Given the description of an element on the screen output the (x, y) to click on. 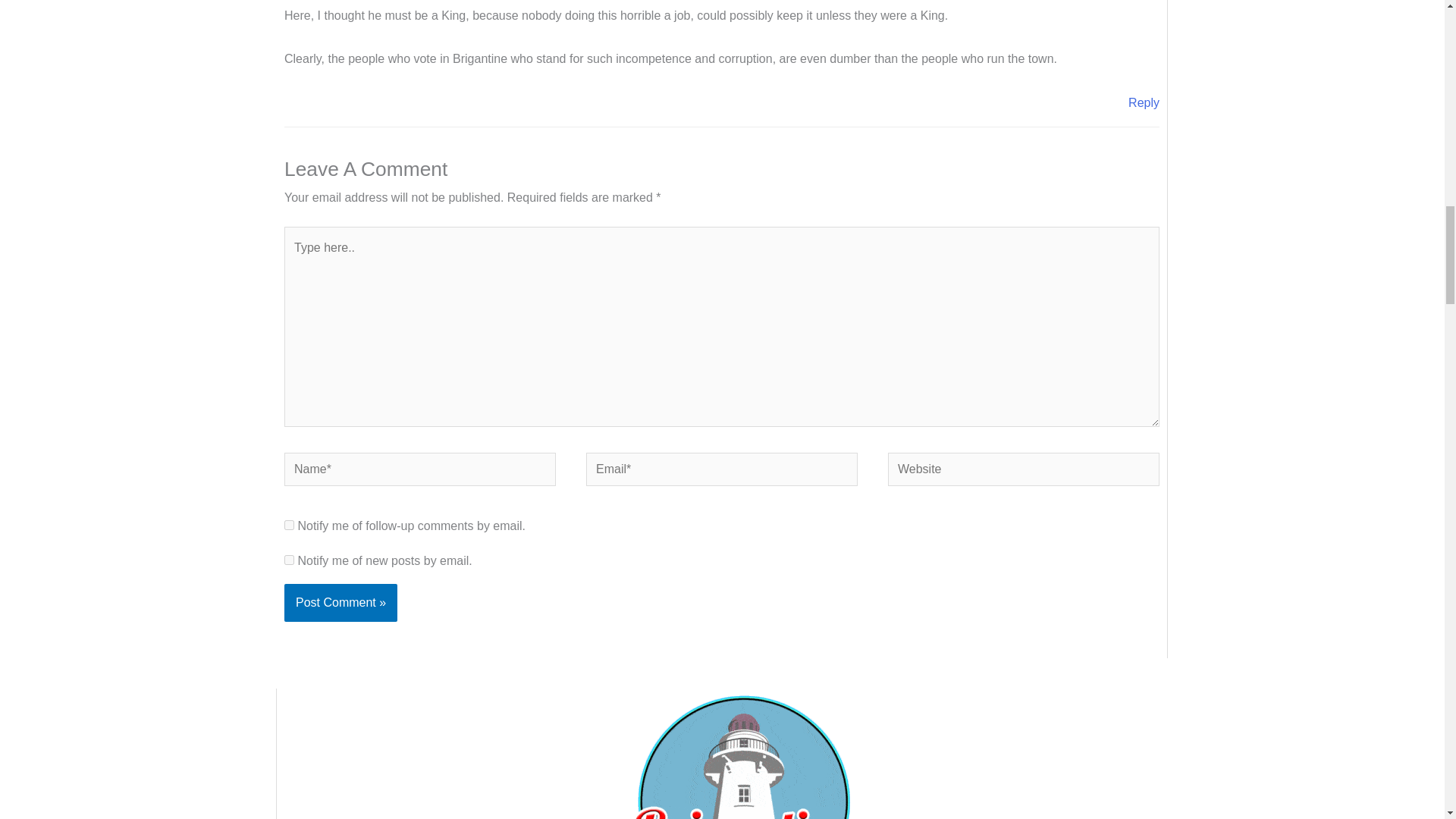
subscribe (288, 524)
subscribe (288, 560)
Reply (1143, 102)
